Given the description of an element on the screen output the (x, y) to click on. 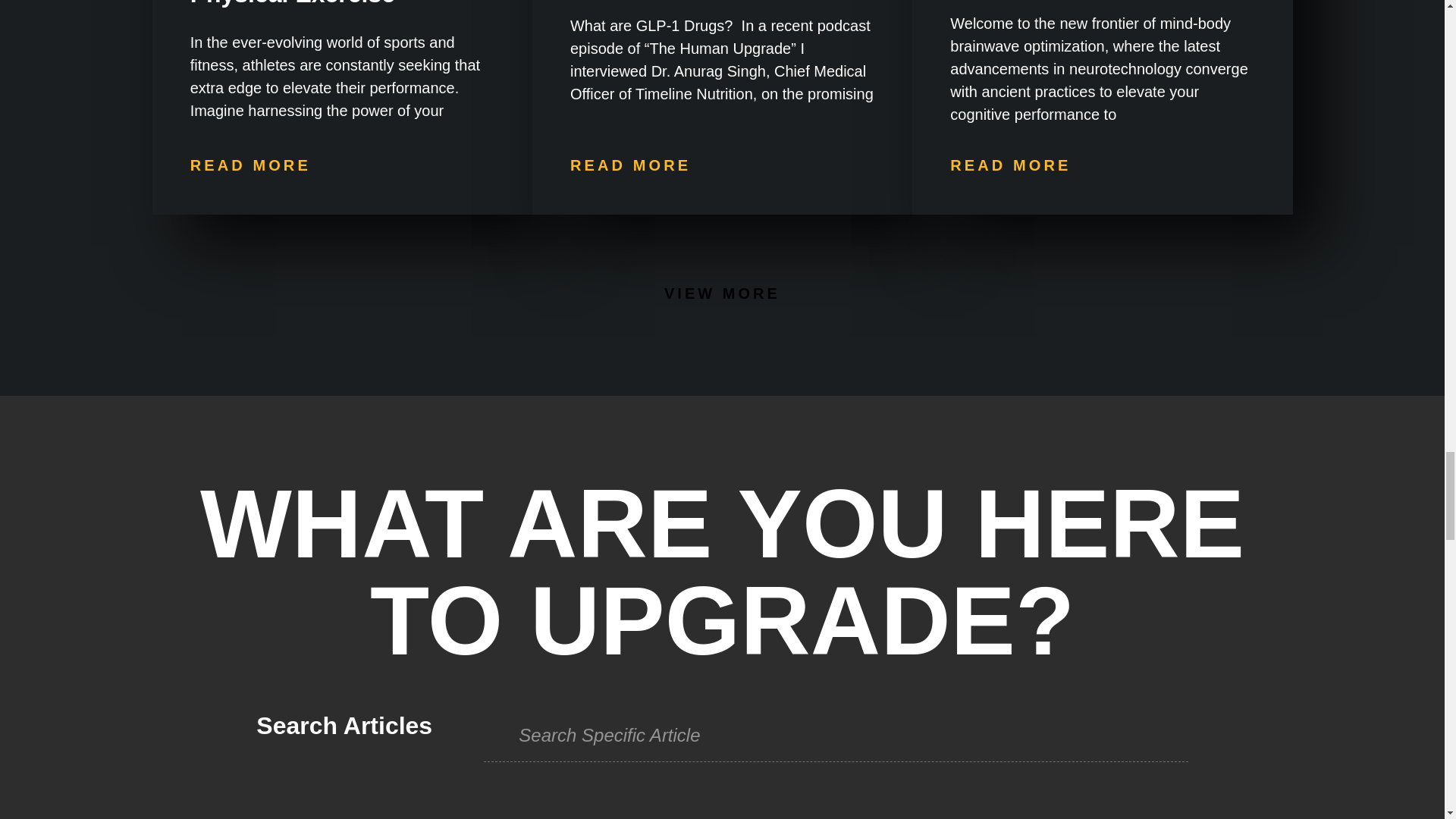
Search (829, 735)
